Given the description of an element on the screen output the (x, y) to click on. 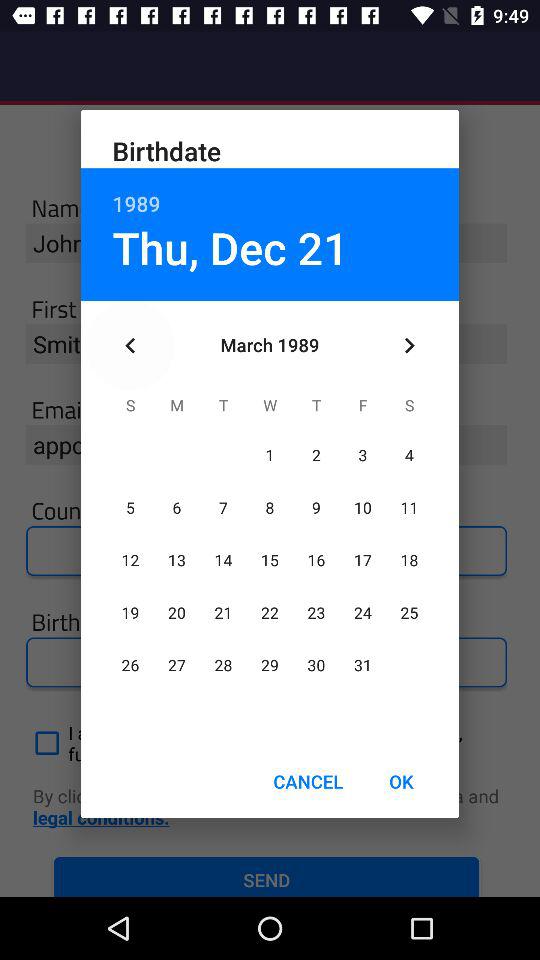
choose item below 1989 item (408, 345)
